Given the description of an element on the screen output the (x, y) to click on. 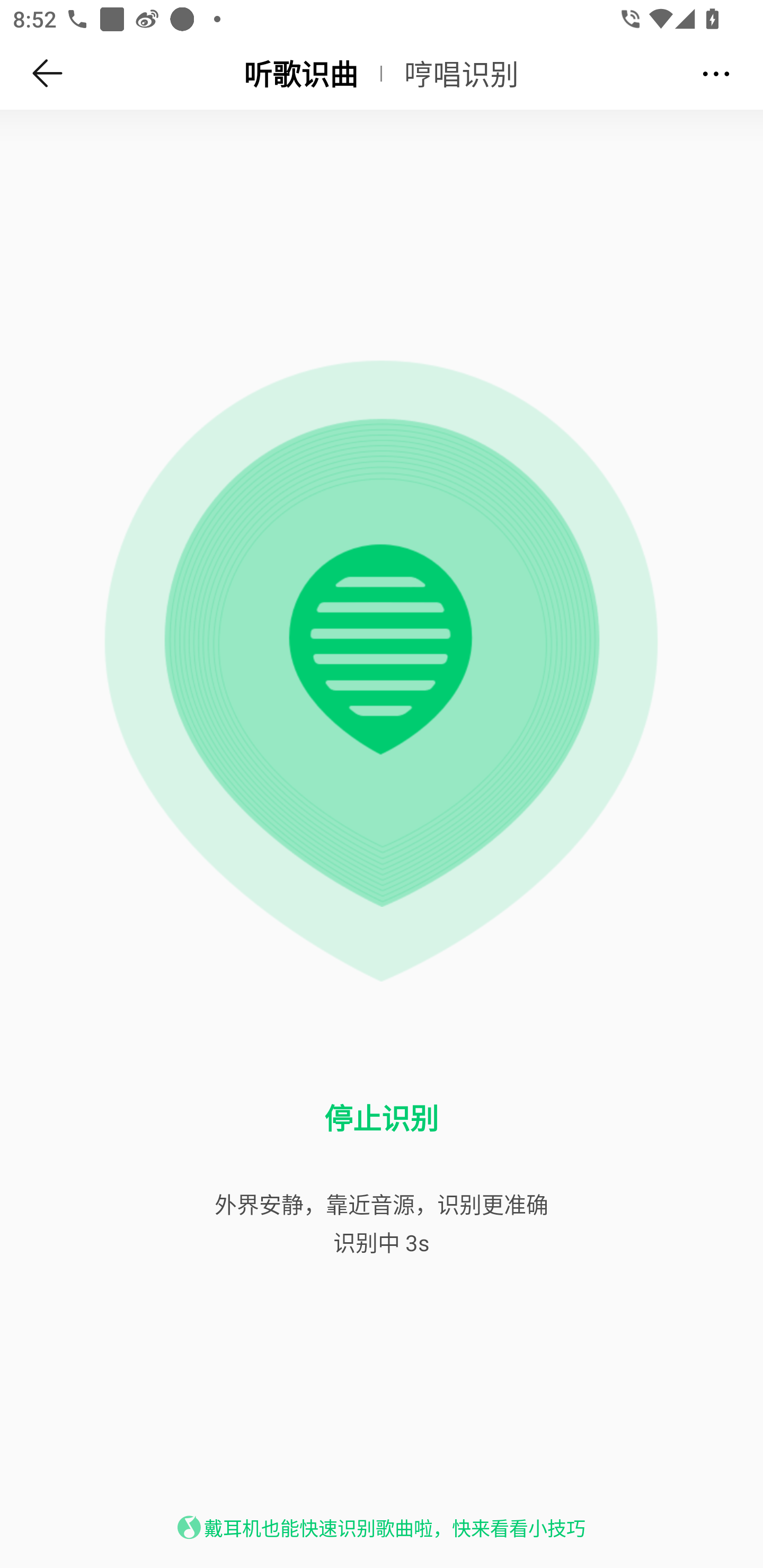
返回 (47, 73)
更多 (715, 73)
听歌识曲 (300, 73)
哼唱识别 (461, 73)
停止识别 (381, 1117)
外界安静，靠近音源，识别更准确 (381, 1203)
戴耳机也能快速识别歌曲啦，快来看看小技巧 (394, 1527)
